Given the description of an element on the screen output the (x, y) to click on. 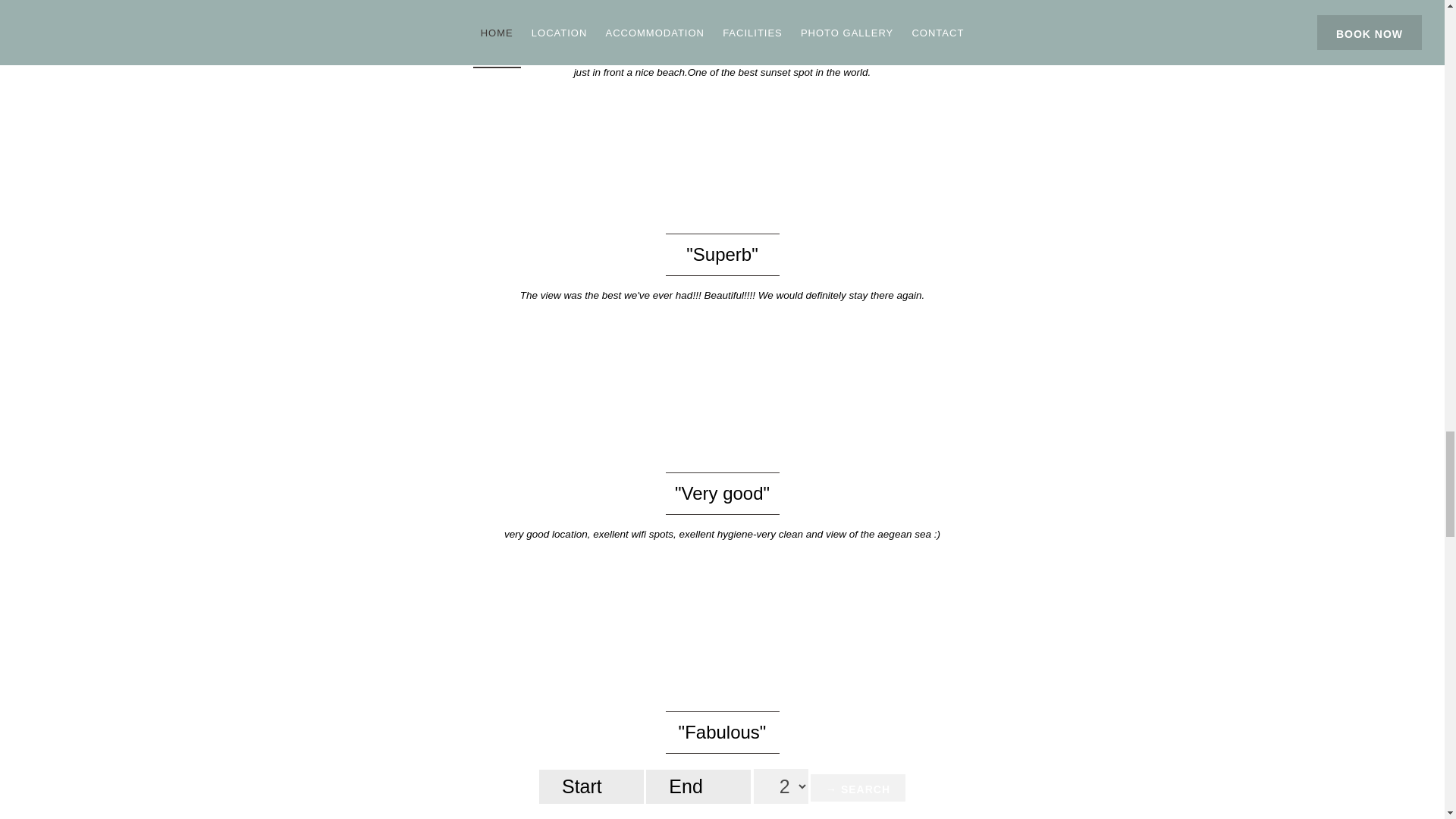
"Superb" (721, 254)
"A hotel with a heart" (722, 14)
"Very good" (722, 493)
"Fabulous" (722, 731)
